Given the description of an element on the screen output the (x, y) to click on. 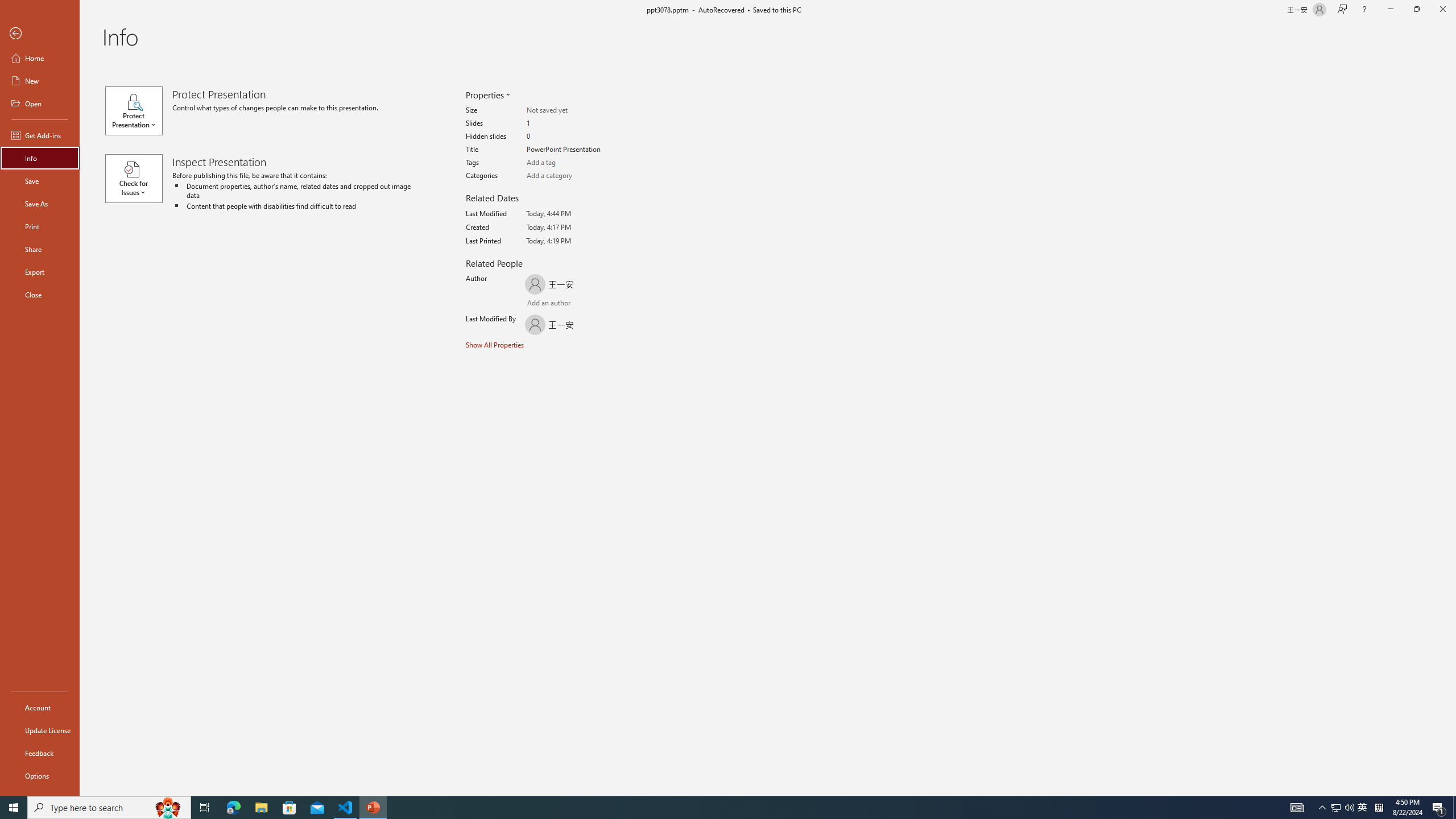
Tags (571, 162)
Info (40, 157)
Account (40, 707)
Slides (571, 123)
Size (571, 110)
